Given the description of an element on the screen output the (x, y) to click on. 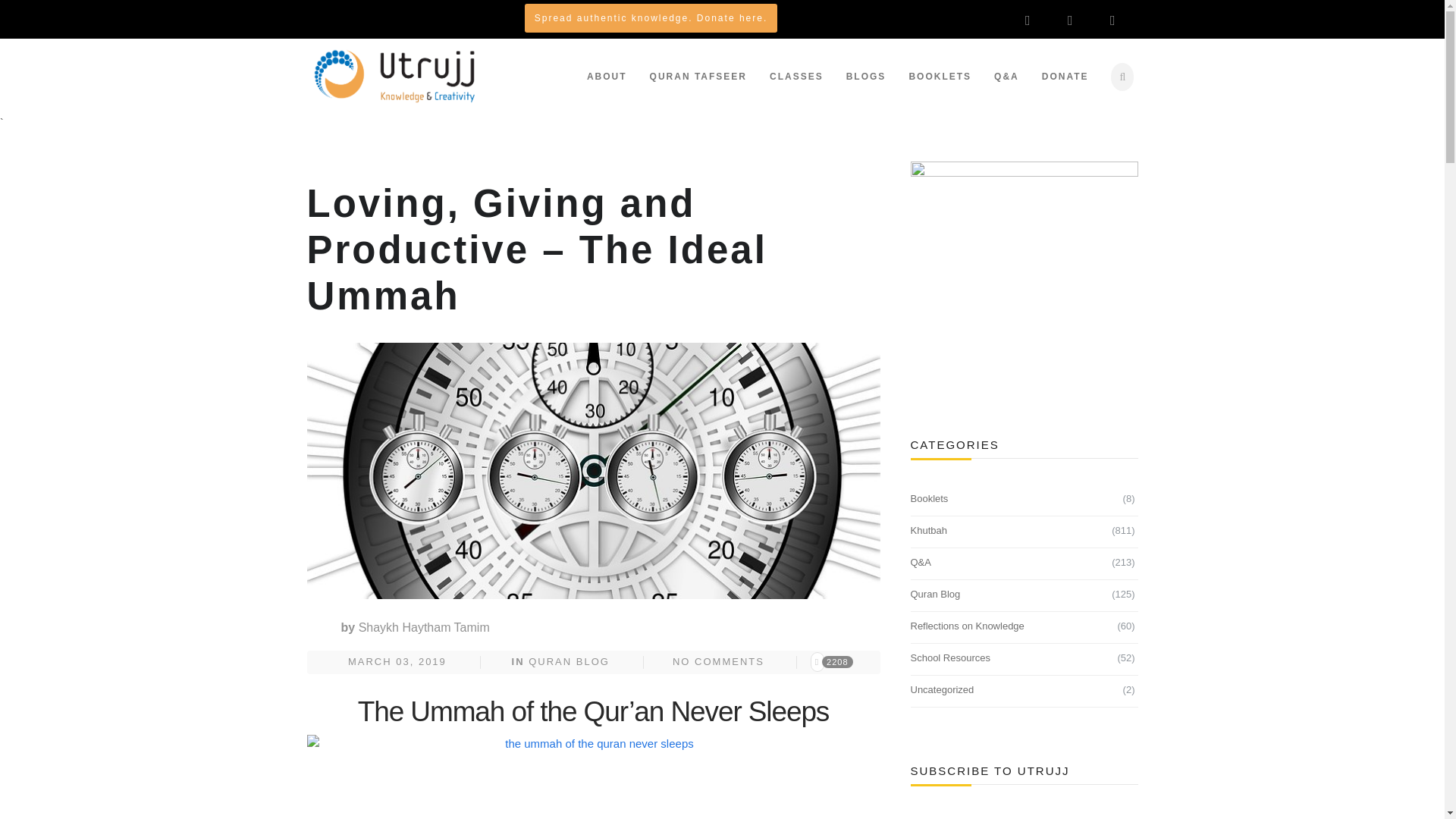
Posts by Shaykh Haytham Tamim (423, 626)
Spread authentic knowledge. Donate here. (651, 17)
CLASSES (796, 76)
Spread authentic knowledge. Donate here. (650, 18)
QURAN TAFSEER (698, 76)
BOOKLETS (939, 76)
DONATE (1065, 76)
Shaykh Haytham Tamim (423, 626)
QURAN BLOG (569, 661)
